Given the description of an element on the screen output the (x, y) to click on. 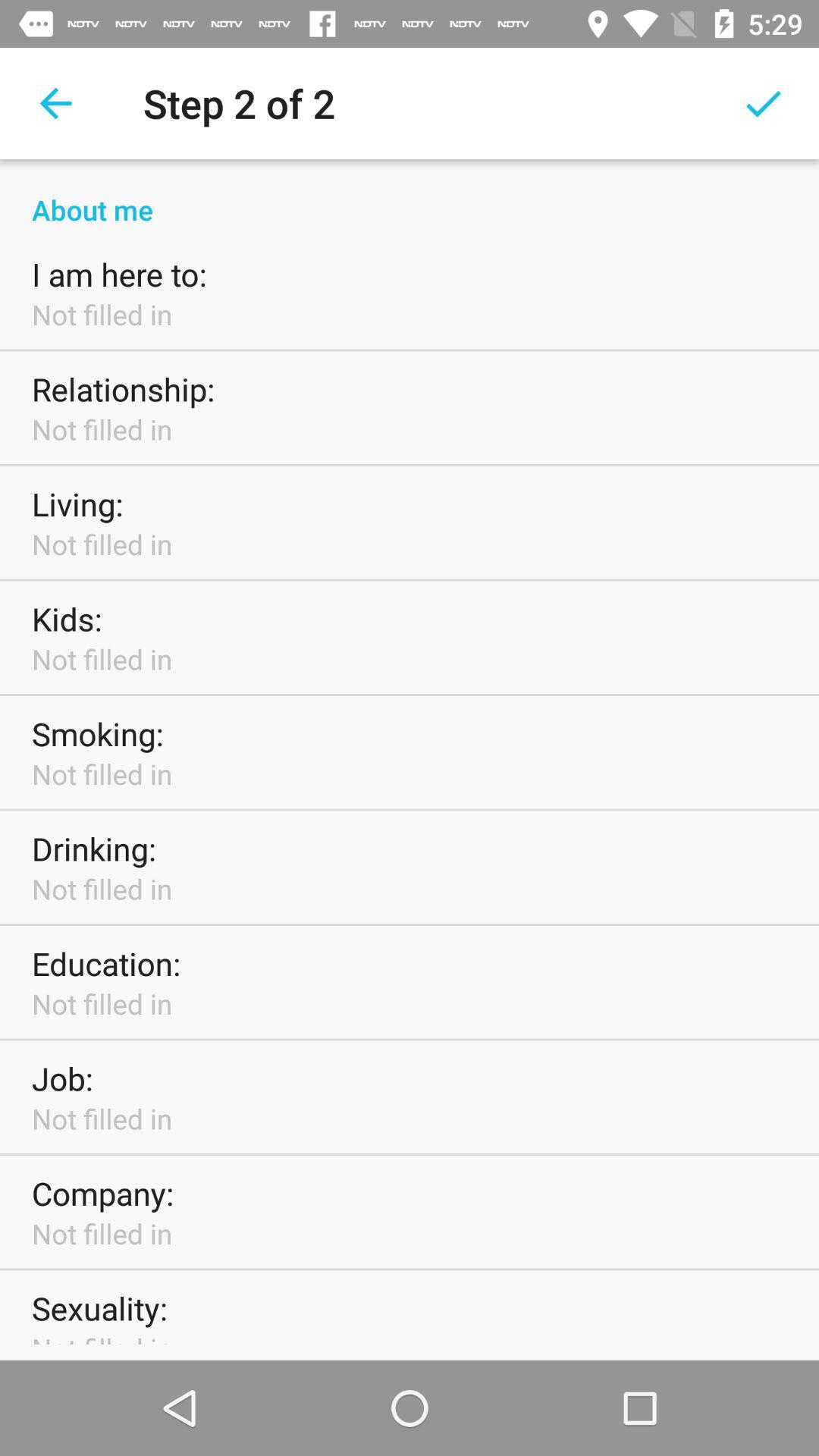
go to previous page (55, 103)
